Given the description of an element on the screen output the (x, y) to click on. 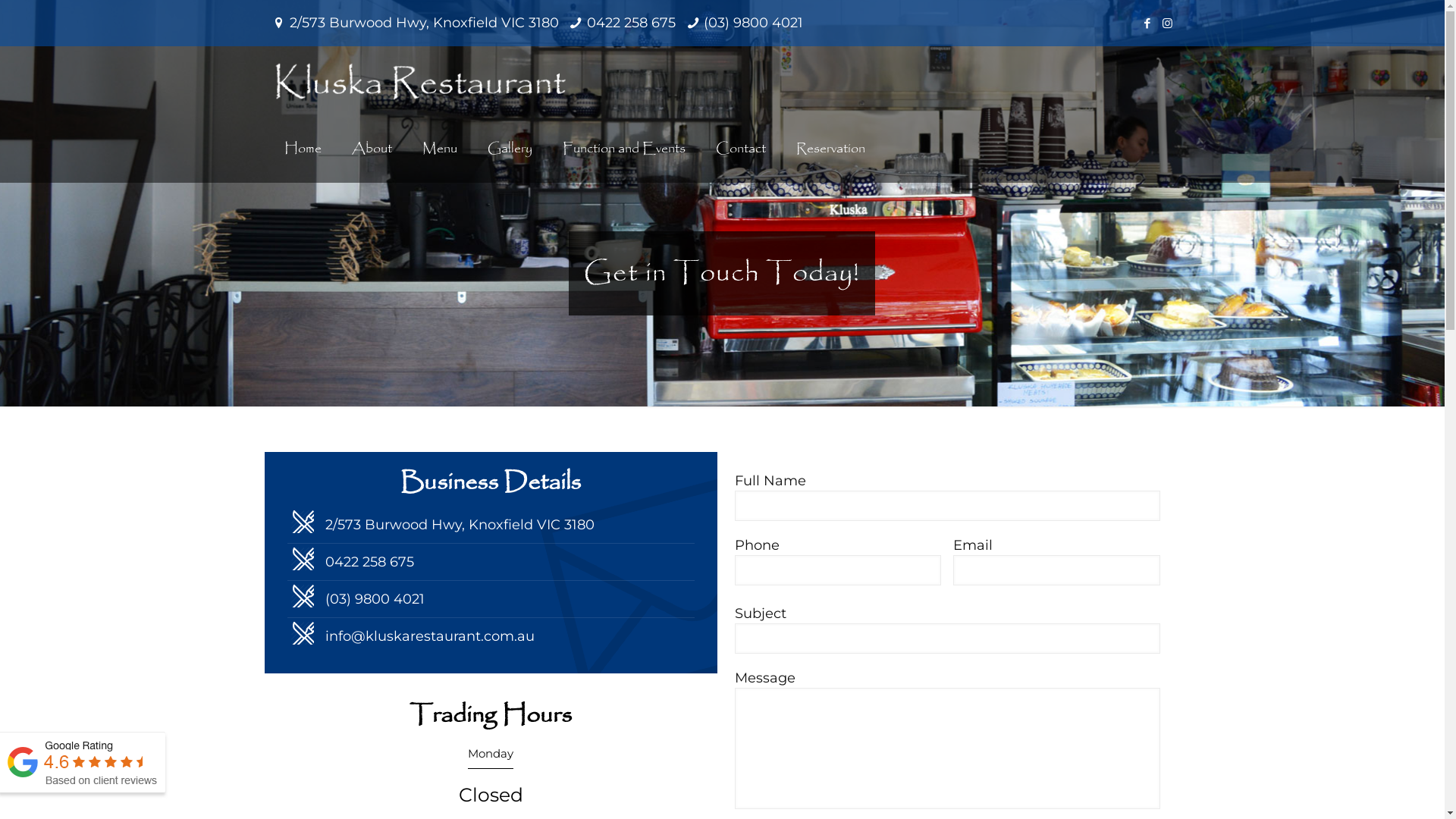
Function and Events Element type: text (623, 148)
0422 258 675 Element type: text (630, 22)
Menu Element type: text (439, 148)
Contact Element type: text (740, 148)
Home Element type: text (302, 148)
(03) 9800 4021 Element type: text (753, 22)
About Element type: text (371, 148)
info@kluskarestaurant.com.au Element type: text (429, 635)
(03) 9800 4021 Element type: text (374, 598)
0422 258 675 Element type: text (369, 561)
Gallery Element type: text (509, 148)
Kluska Restaurant Element type: hover (420, 80)
Reservation Element type: text (830, 148)
Instagram Element type: hover (1167, 22)
Facebook Element type: hover (1146, 22)
